Given the description of an element on the screen output the (x, y) to click on. 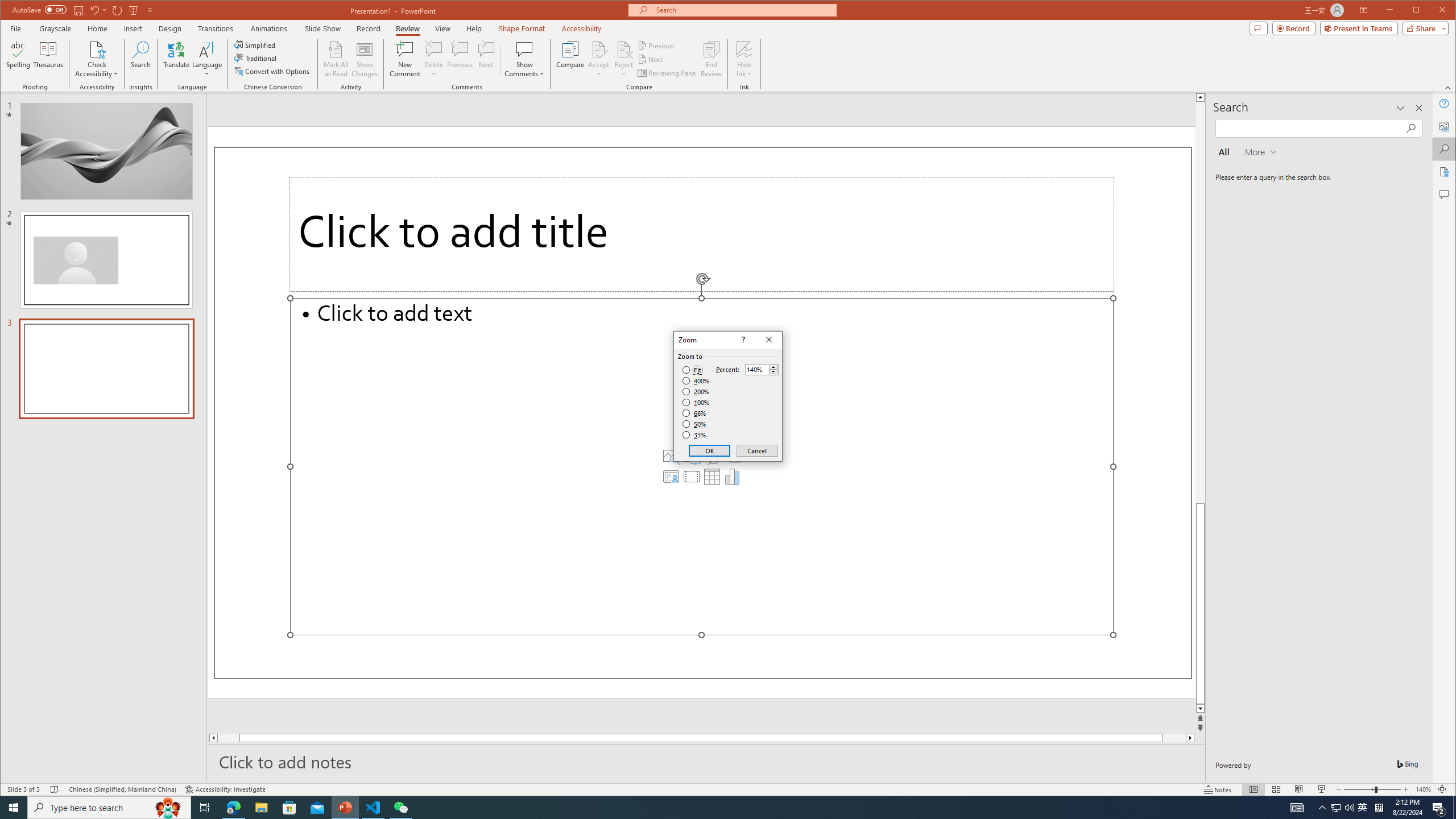
Convert with Options... (272, 70)
400% (696, 380)
